Given the description of an element on the screen output the (x, y) to click on. 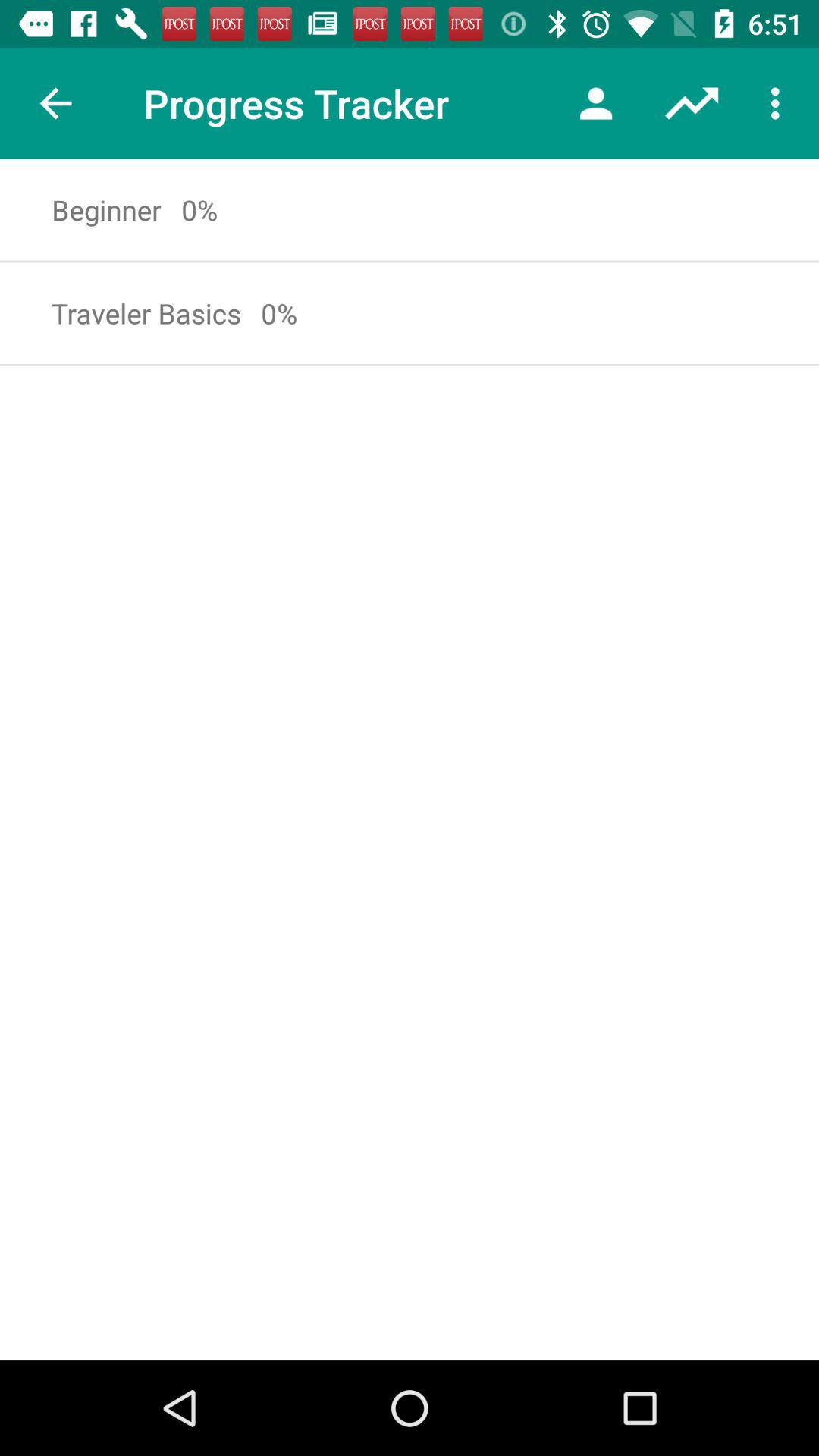
press item to the left of progress tracker (55, 103)
